Given the description of an element on the screen output the (x, y) to click on. 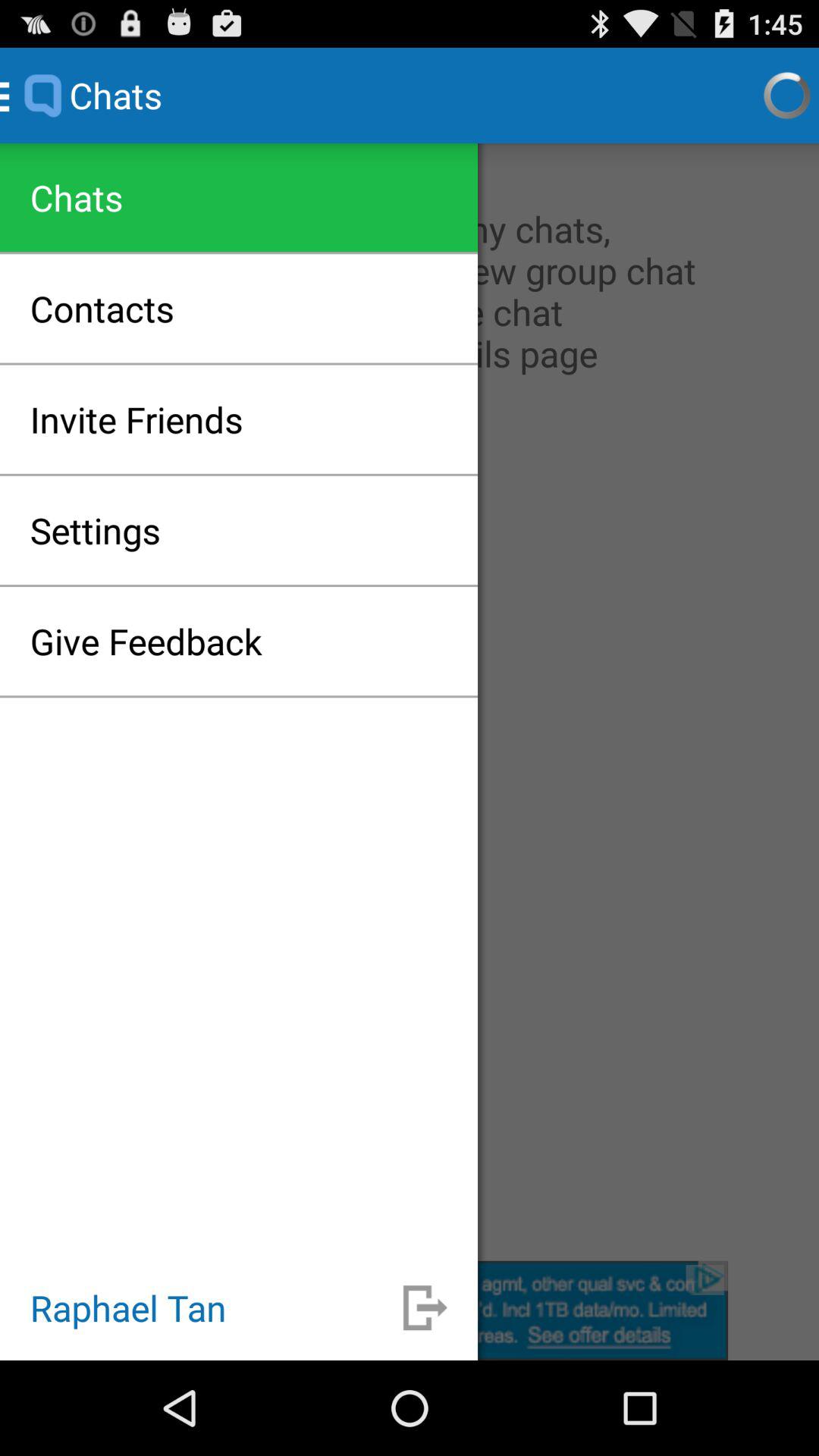
choose the item below the contacts icon (136, 419)
